Given the description of an element on the screen output the (x, y) to click on. 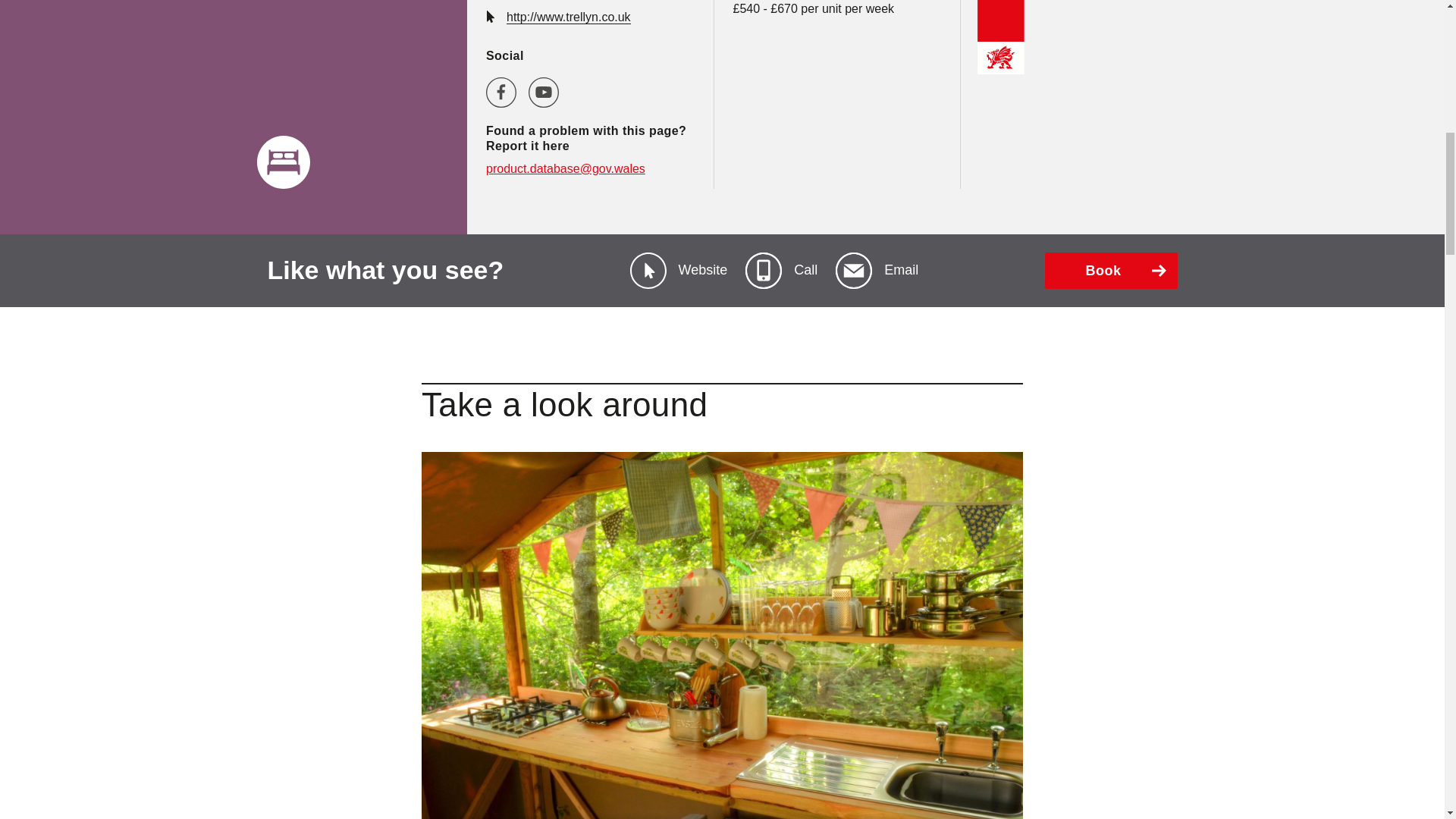
Call (780, 270)
facebook (501, 91)
Email (876, 270)
Website (679, 270)
Book (1111, 270)
Youtube (543, 91)
